Given the description of an element on the screen output the (x, y) to click on. 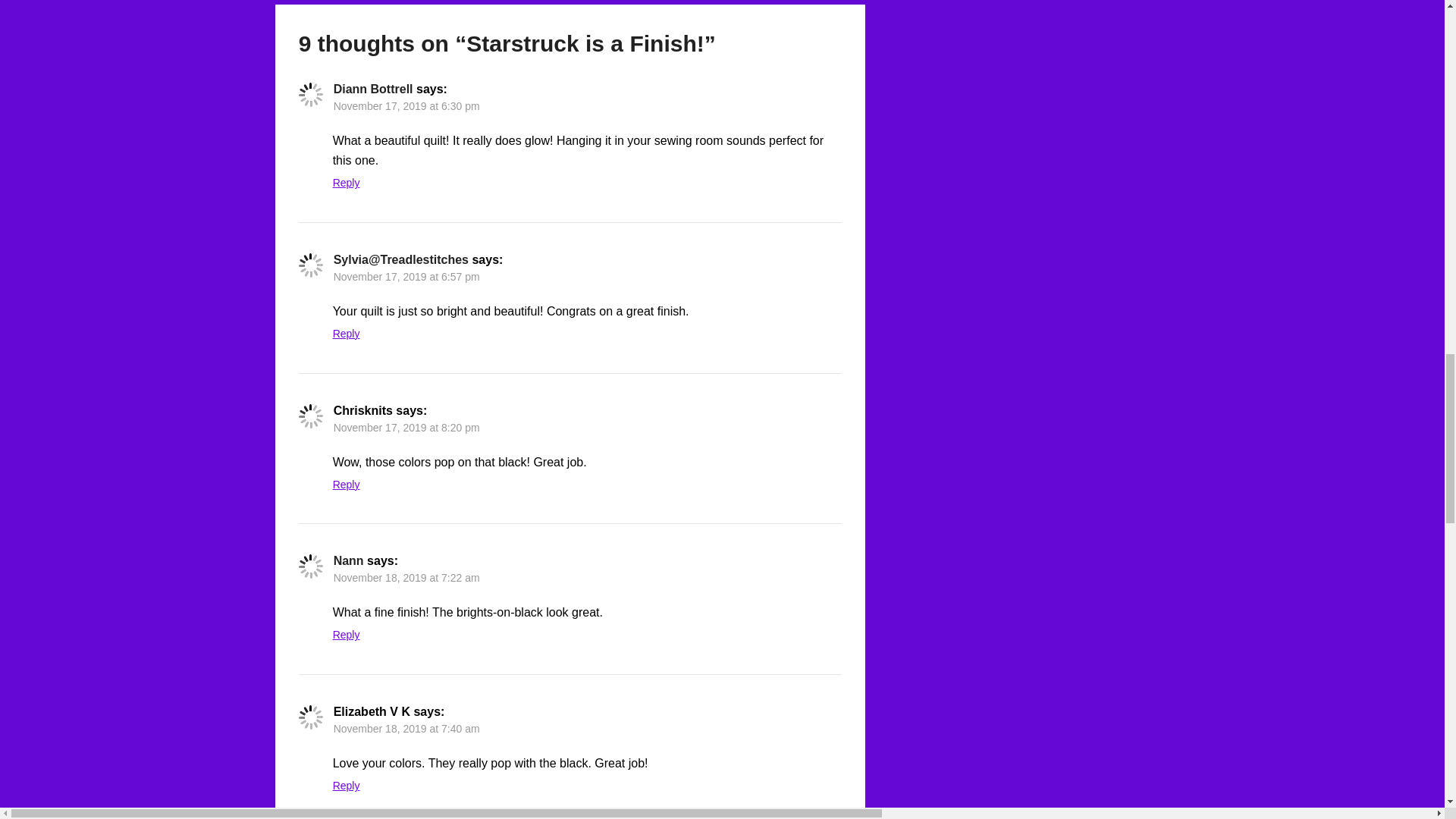
Nann (348, 560)
November 17, 2019 at 6:57 pm (406, 276)
Reply (346, 634)
Reply (346, 785)
November 18, 2019 at 7:40 am (406, 728)
November 18, 2019 at 7:22 am (406, 577)
Reply (346, 333)
Reply (346, 182)
November 17, 2019 at 8:20 pm (406, 427)
Diann Bottrell (373, 88)
